Given the description of an element on the screen output the (x, y) to click on. 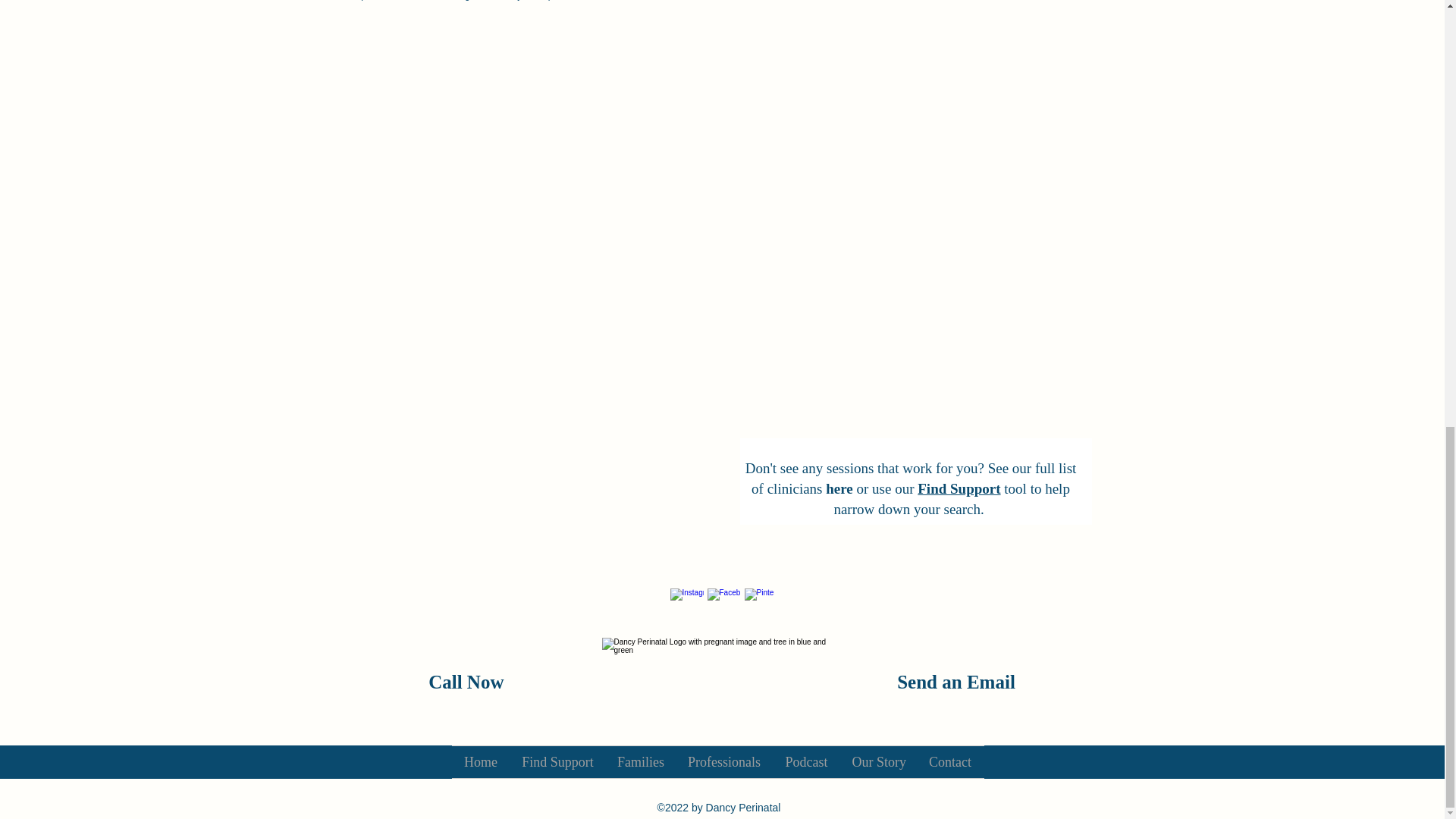
here (839, 488)
Families (640, 762)
Find (933, 488)
Support (975, 488)
Home (481, 762)
Find Support (557, 762)
Email (990, 681)
